Given the description of an element on the screen output the (x, y) to click on. 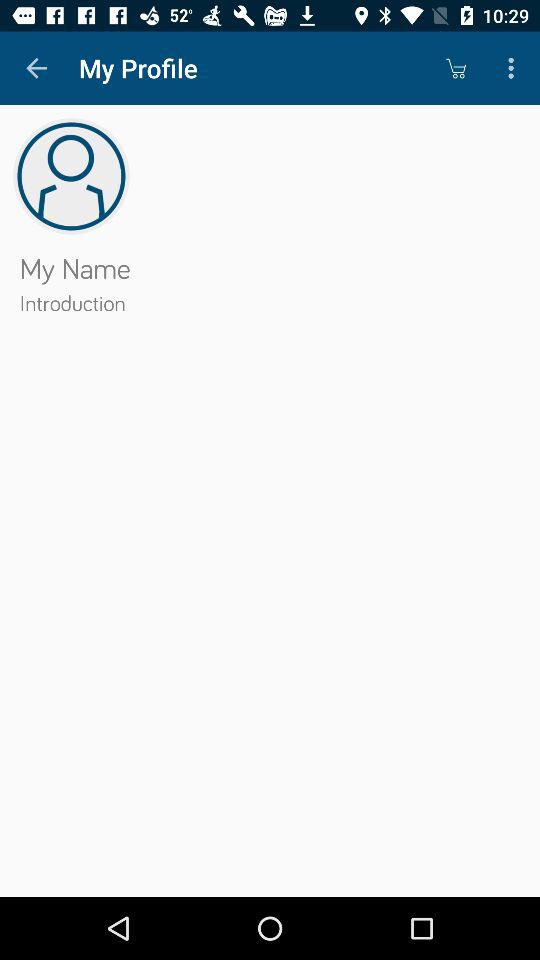
turn off icon next to my profile (455, 67)
